Given the description of an element on the screen output the (x, y) to click on. 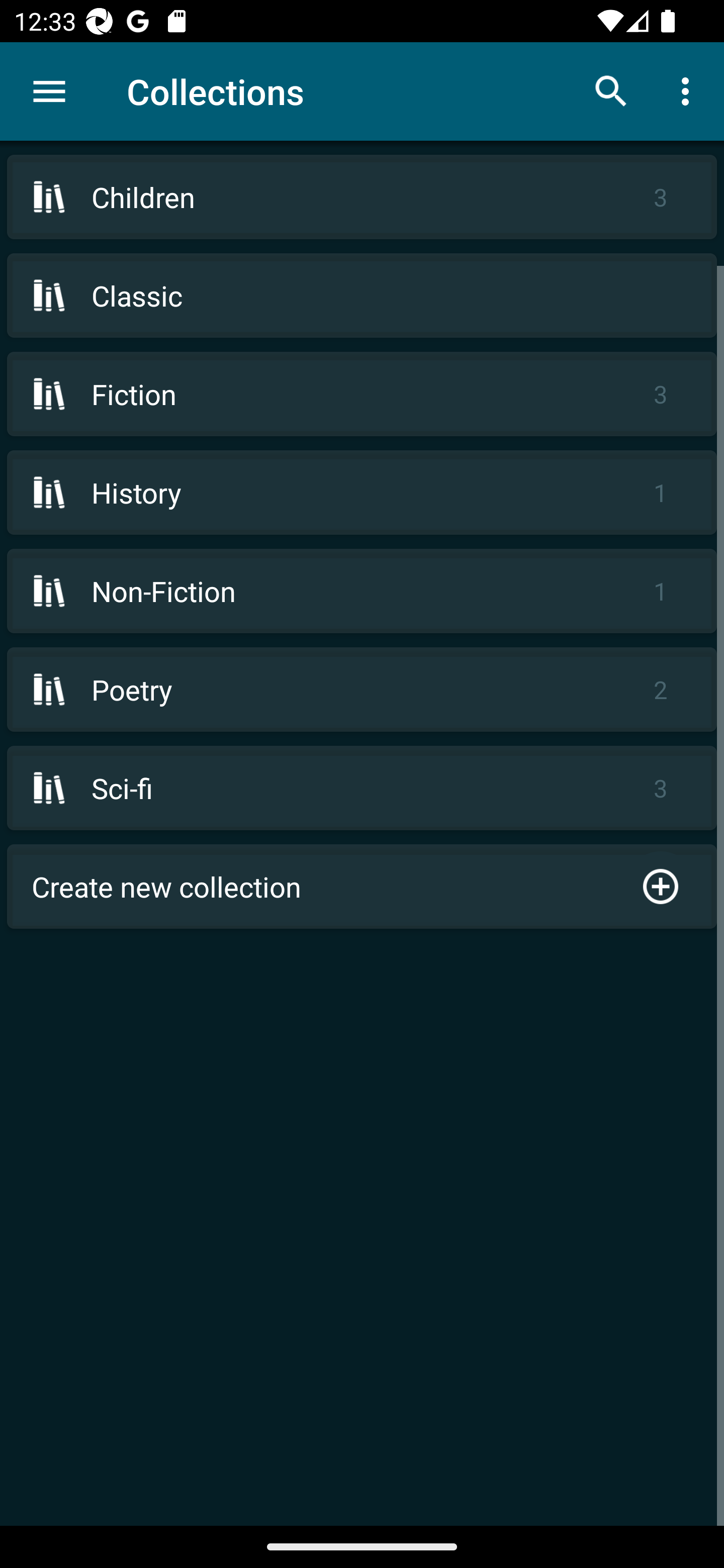
Menu (49, 91)
Search books & documents (611, 90)
More options (688, 90)
Children 3 (361, 197)
Classic (361, 295)
Fiction 3 (361, 393)
History 1 (361, 492)
Non-Fiction 1 (361, 590)
Poetry 2 (361, 689)
Sci-fi 3 (361, 787)
Create new collection (361, 885)
